Given the description of an element on the screen output the (x, y) to click on. 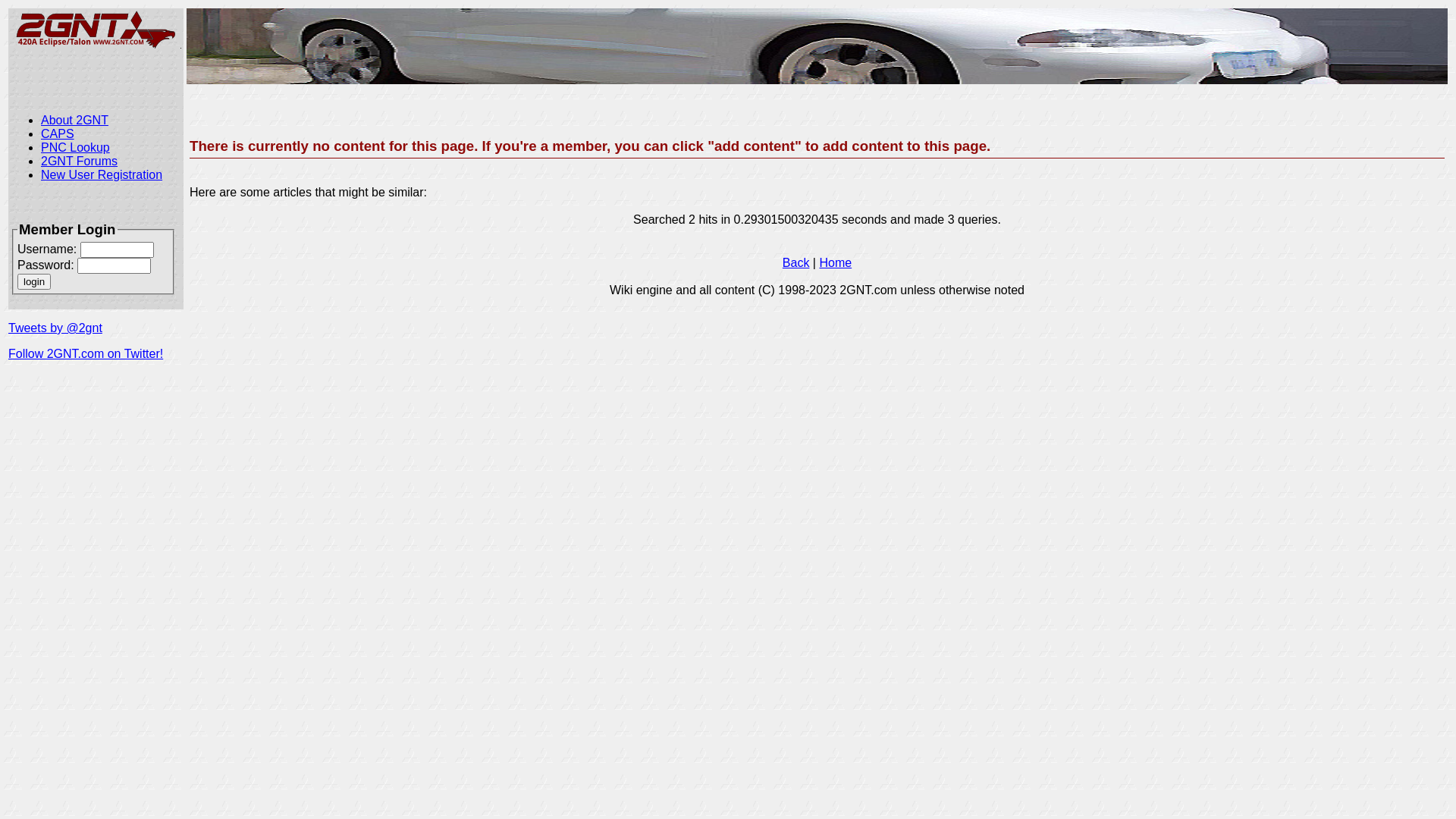
About 2GNT Element type: text (74, 119)
PNC Lookup Element type: text (74, 147)
Follow 2GNT.com on Twitter! Element type: text (85, 353)
CAPS Element type: text (57, 133)
2GNT Forums Element type: text (78, 160)
login Element type: text (33, 281)
Back Element type: text (795, 262)
Home Element type: text (835, 262)
Tweets by @2gnt Element type: text (55, 327)
New User Registration Element type: text (101, 174)
